Given the description of an element on the screen output the (x, y) to click on. 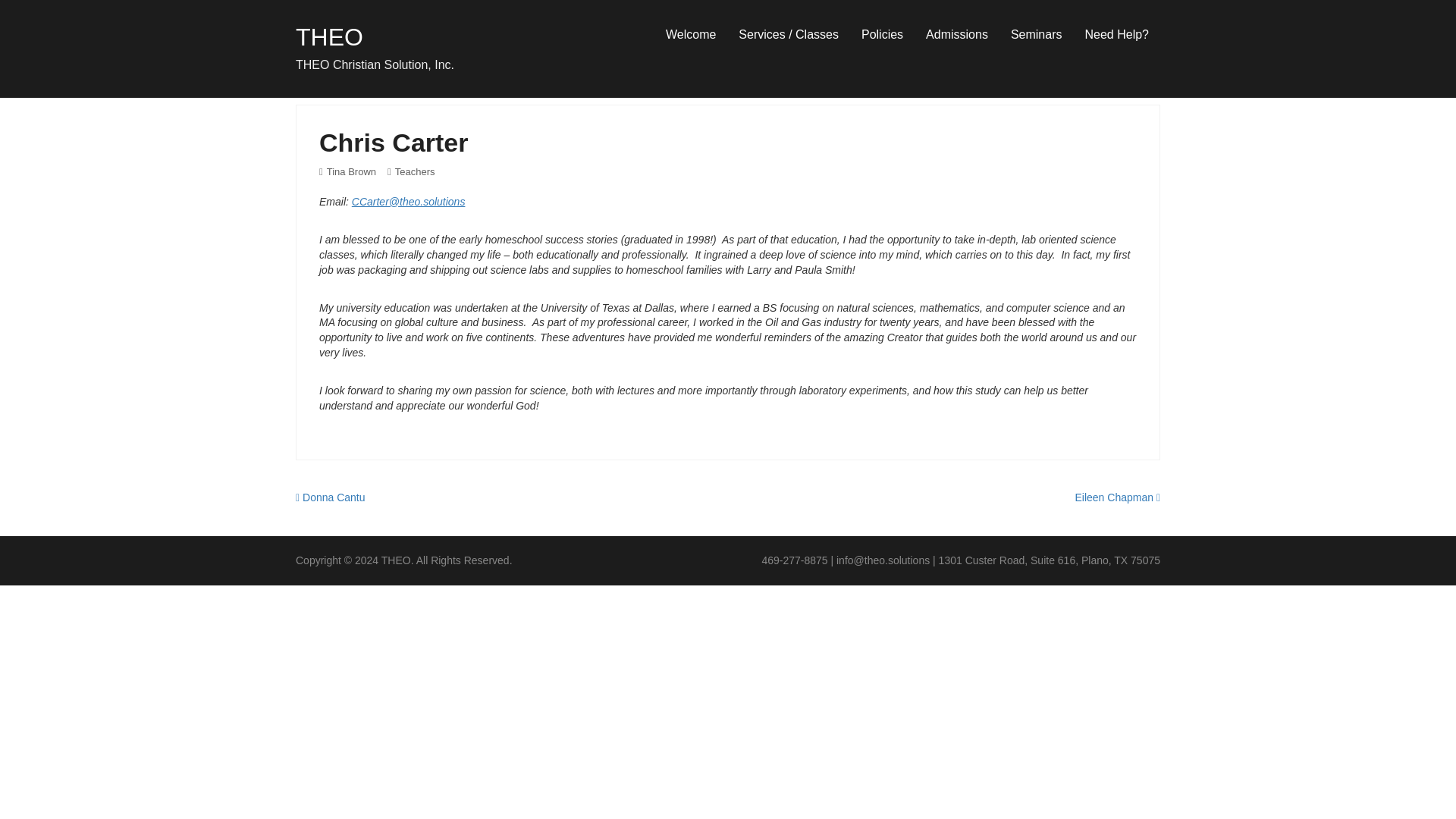
Admissions (956, 34)
Welcome (689, 34)
Teachers (411, 171)
Seminars (1036, 34)
469-277-8875 (794, 560)
Tina Brown (346, 171)
1301 Custer Road, Suite 616, Plano, TX 75075 (1049, 560)
THEO (328, 36)
THEO (395, 560)
Policies (882, 34)
Need Help? (1116, 34)
